Given the description of an element on the screen output the (x, y) to click on. 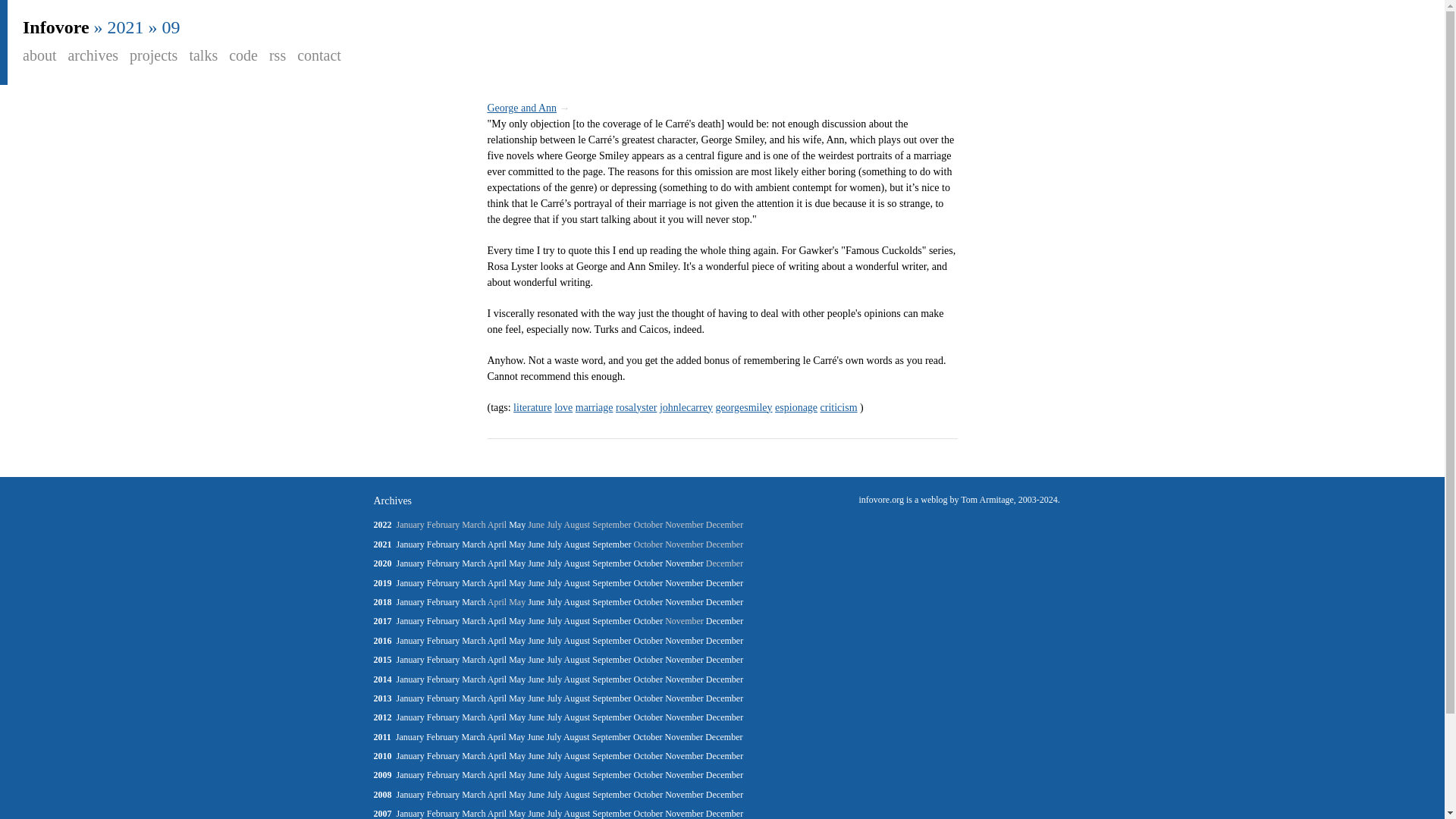
johnlecarrey (686, 407)
espionage (795, 407)
January (409, 543)
Infovore (55, 26)
August 2020 (577, 562)
May (516, 543)
March (472, 543)
April (496, 543)
love (563, 407)
July (554, 543)
February 2021 (443, 543)
April (496, 562)
January 2021 (409, 543)
February (443, 543)
March (472, 562)
